Given the description of an element on the screen output the (x, y) to click on. 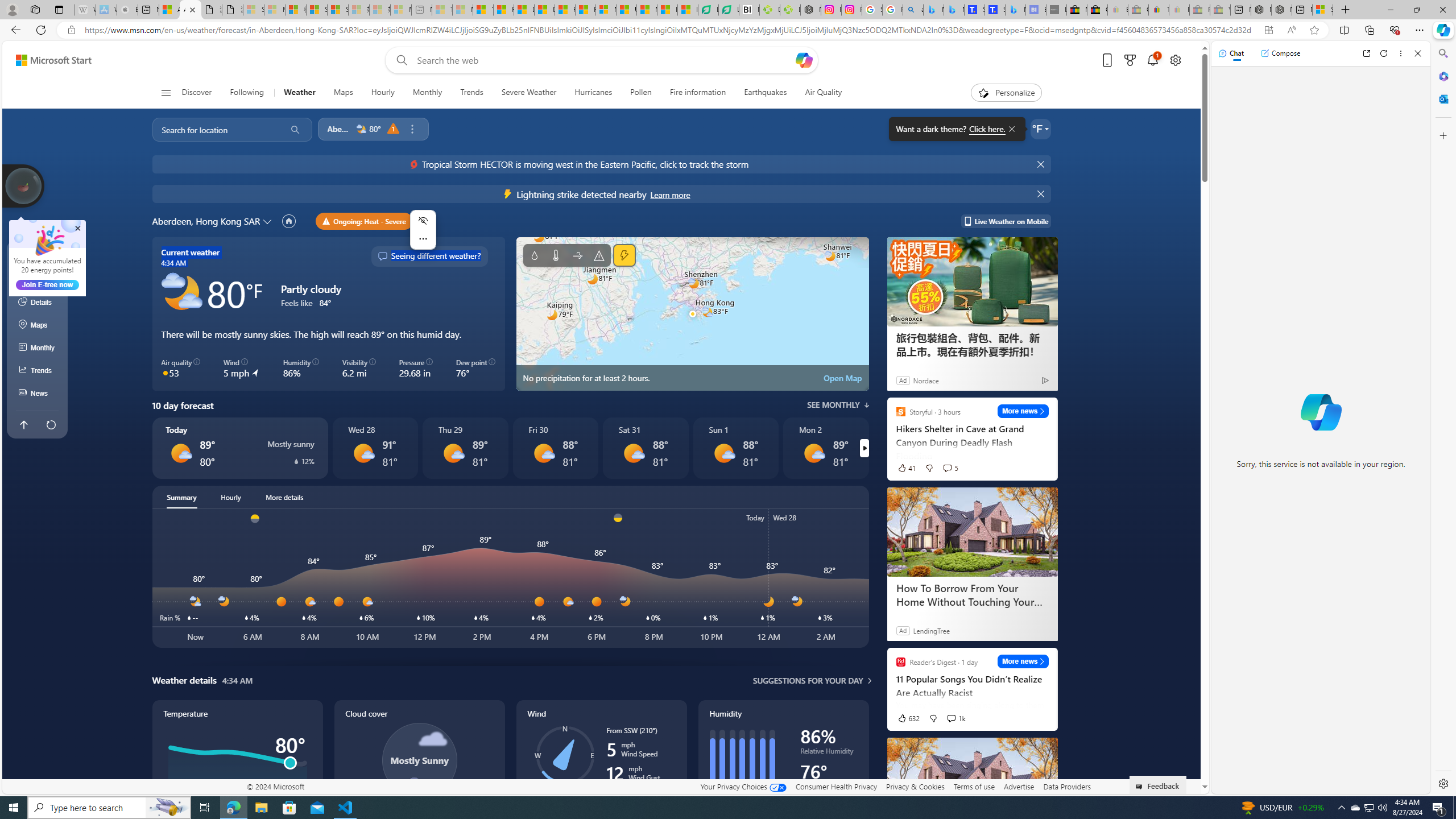
Monthly (427, 92)
Data Providers (1066, 785)
Drinking tea every day is proven to delay biological aging (544, 9)
Trends (471, 92)
Class: weatherEventAlertIcon-DS-EntryPoint1-1 (507, 193)
